Given the description of an element on the screen output the (x, y) to click on. 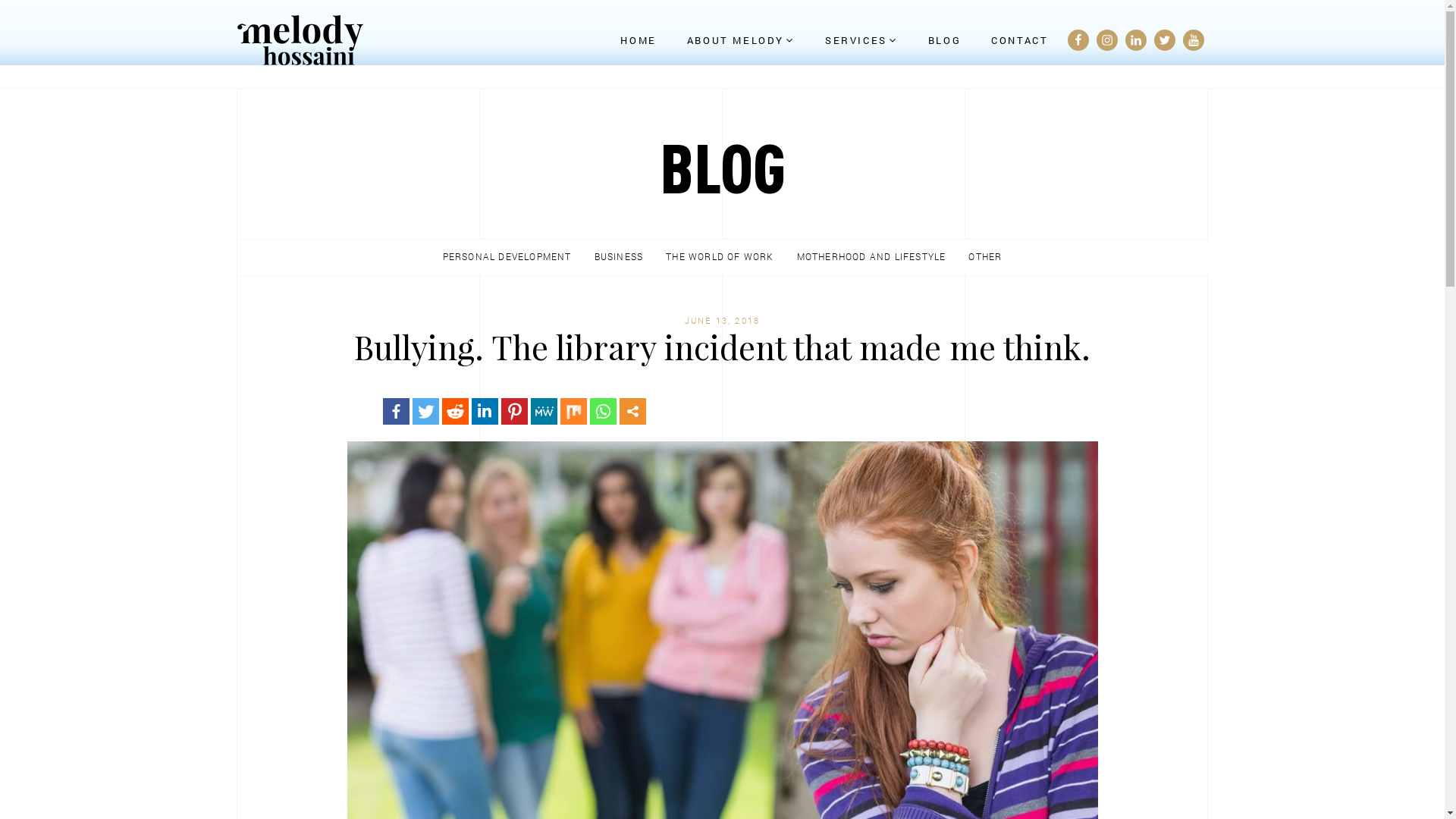
Whatsapp (602, 411)
Reddit (454, 411)
Linkedin (484, 411)
HOME (638, 40)
SERVICES (860, 40)
CONTACT (1018, 40)
MeWe (544, 411)
Mix (572, 411)
ABOUT MELODY (740, 40)
Pinterest (513, 411)
